Given the description of an element on the screen output the (x, y) to click on. 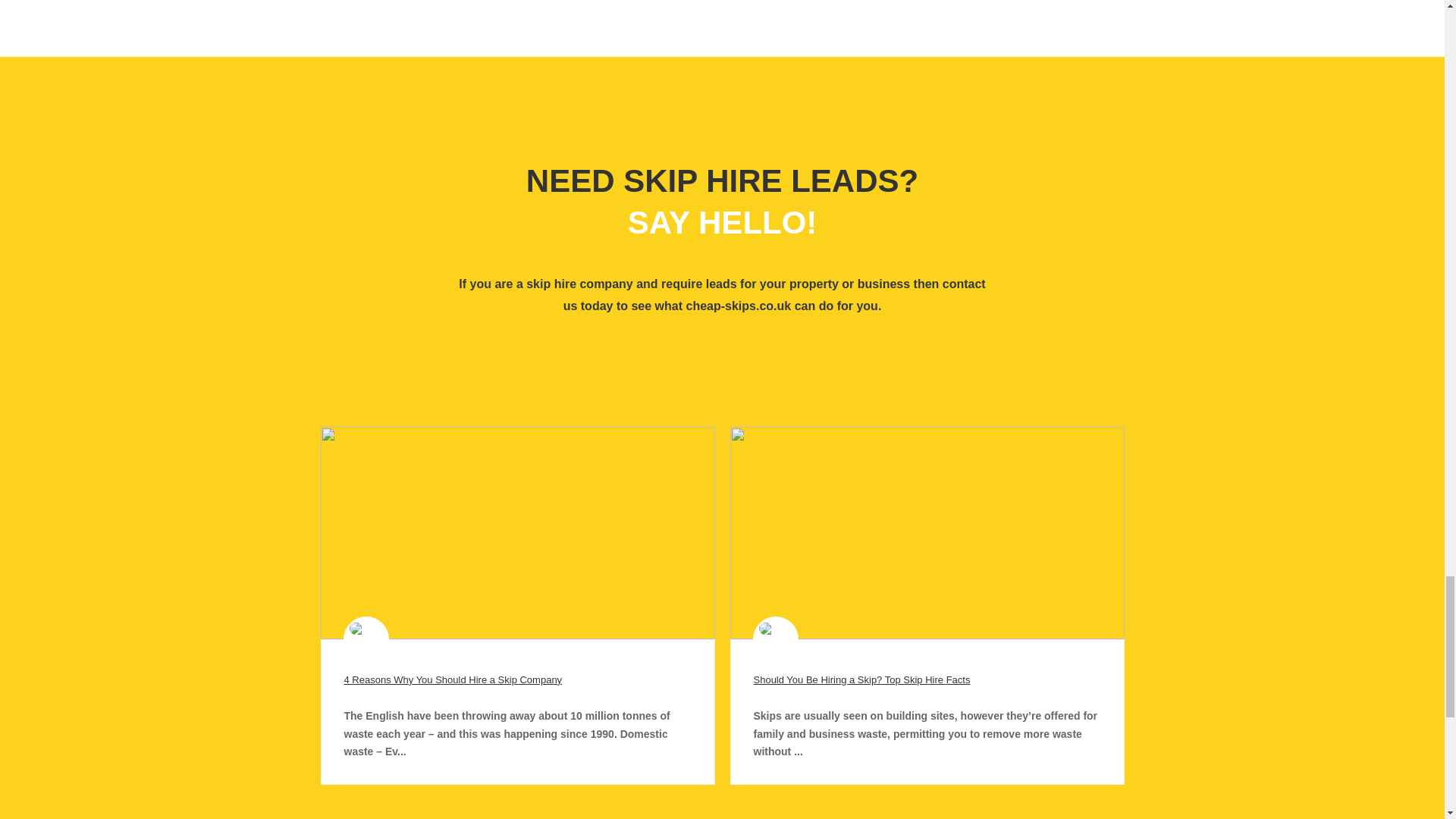
Should You Be Hiring a Skip? Top Skip Hire Facts (862, 679)
4 Reasons Why You Should Hire a Skip Company (452, 679)
